Given the description of an element on the screen output the (x, y) to click on. 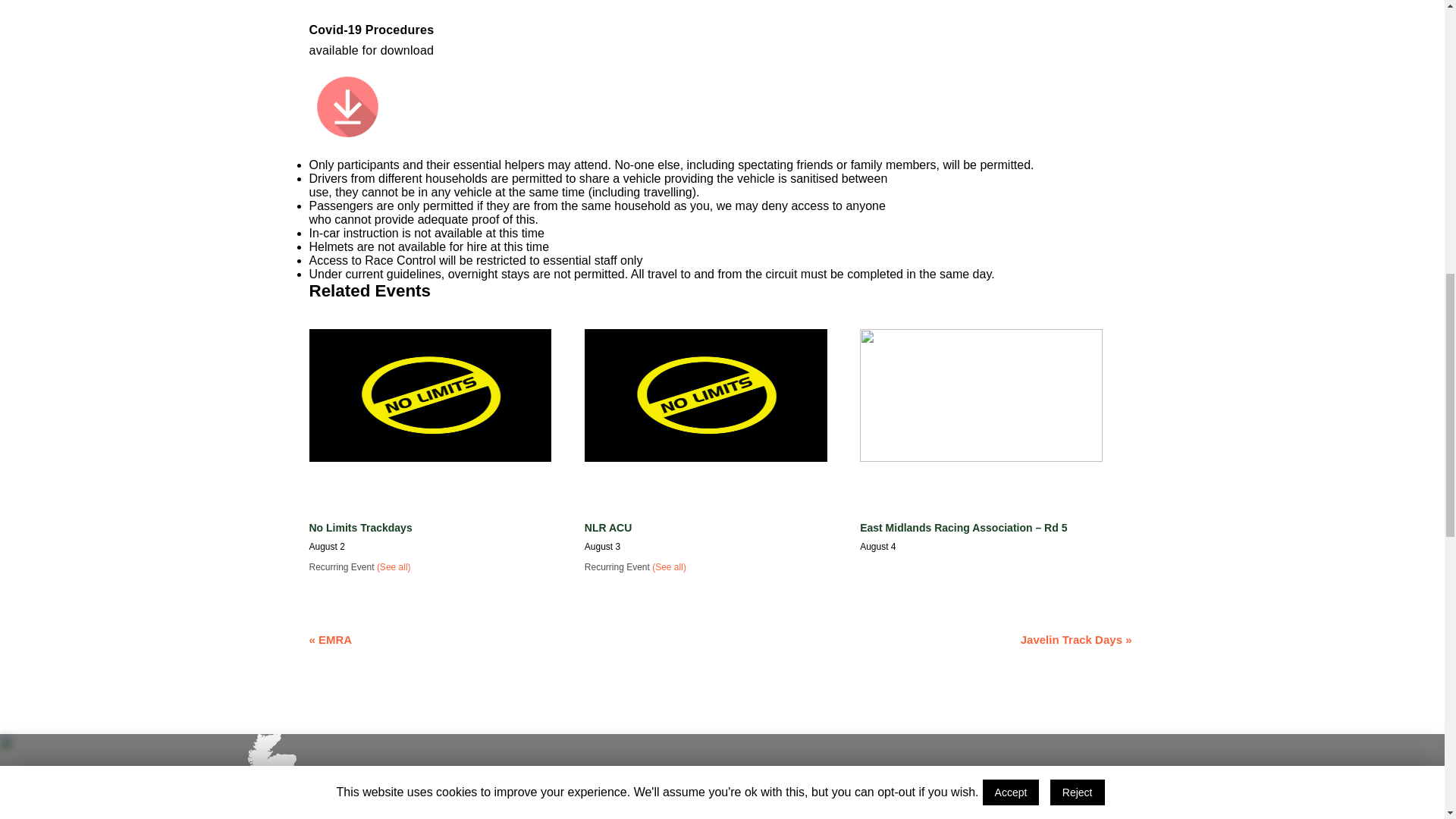
No Limits Trackdays (360, 527)
NLR ACU (608, 527)
